Given the description of an element on the screen output the (x, y) to click on. 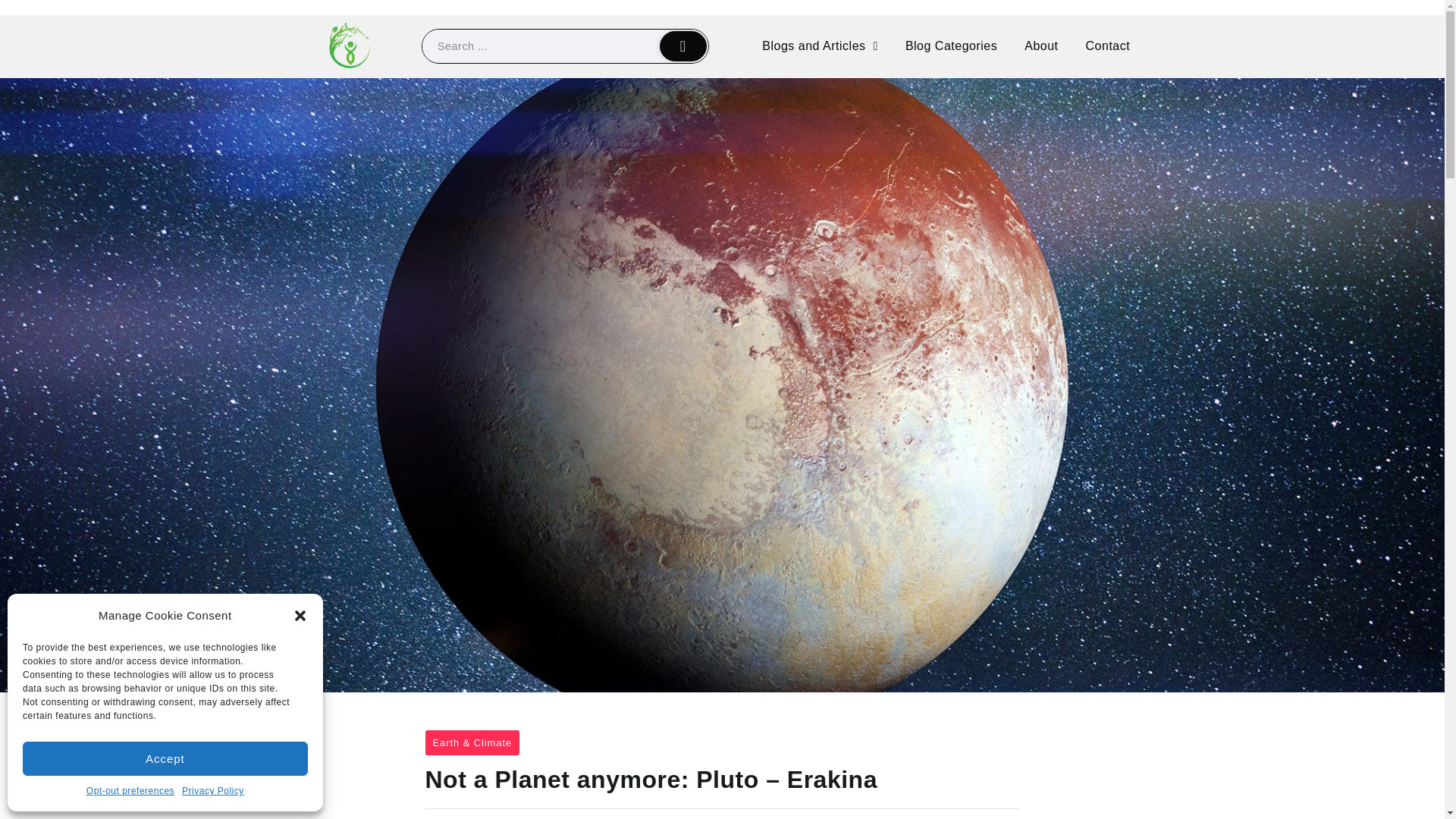
Opt-out preferences (129, 791)
Blog Categories (950, 46)
About (1040, 46)
Privacy Policy (213, 791)
Blogs and Articles (819, 46)
Accept (165, 758)
Contact (1107, 46)
